Given the description of an element on the screen output the (x, y) to click on. 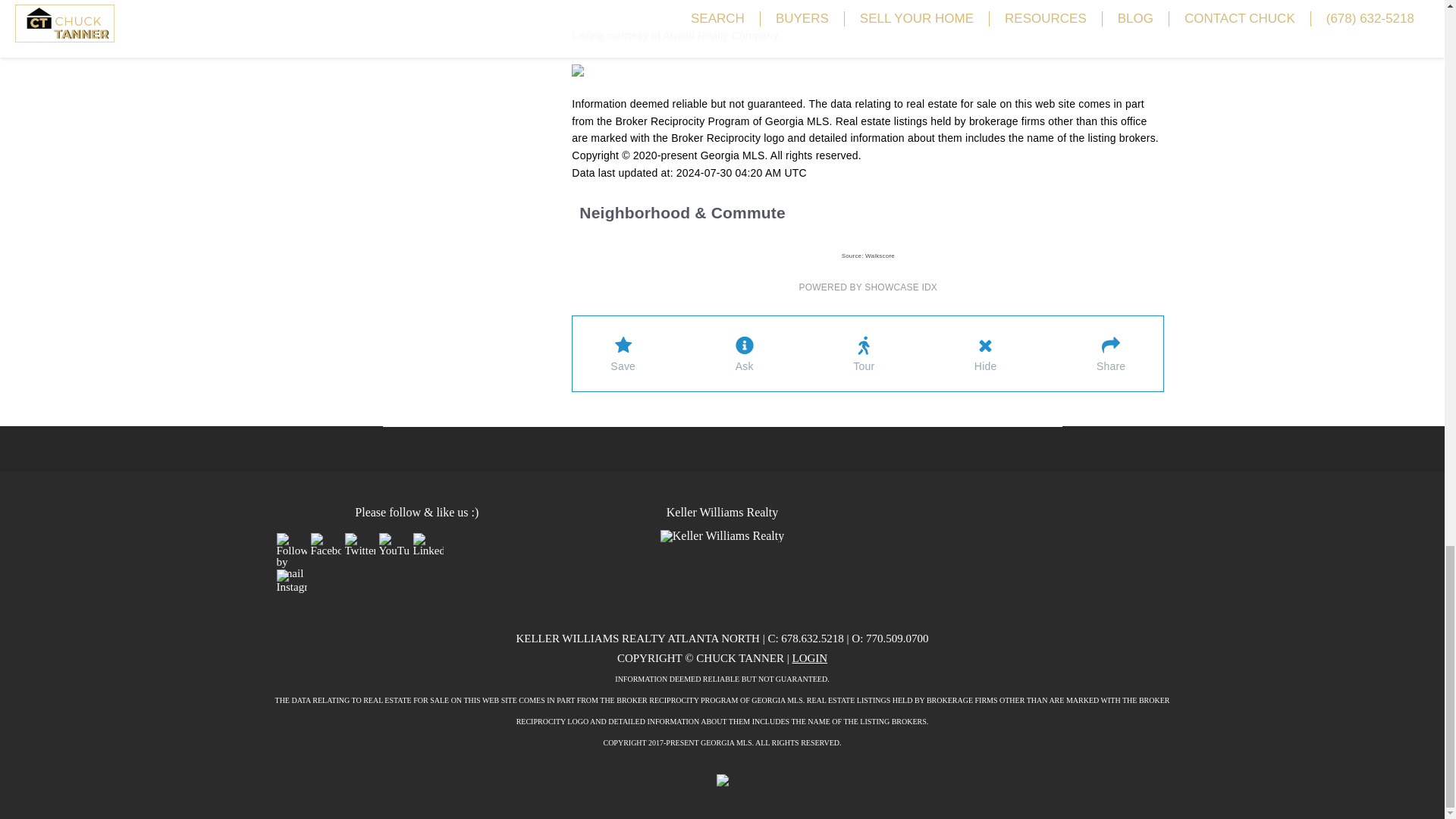
Instagram (290, 580)
Facebook (325, 544)
LinkedIn (427, 544)
YouTube (393, 544)
Twitter (358, 544)
POWERED BY SHOWCASE IDX (868, 286)
